Given the description of an element on the screen output the (x, y) to click on. 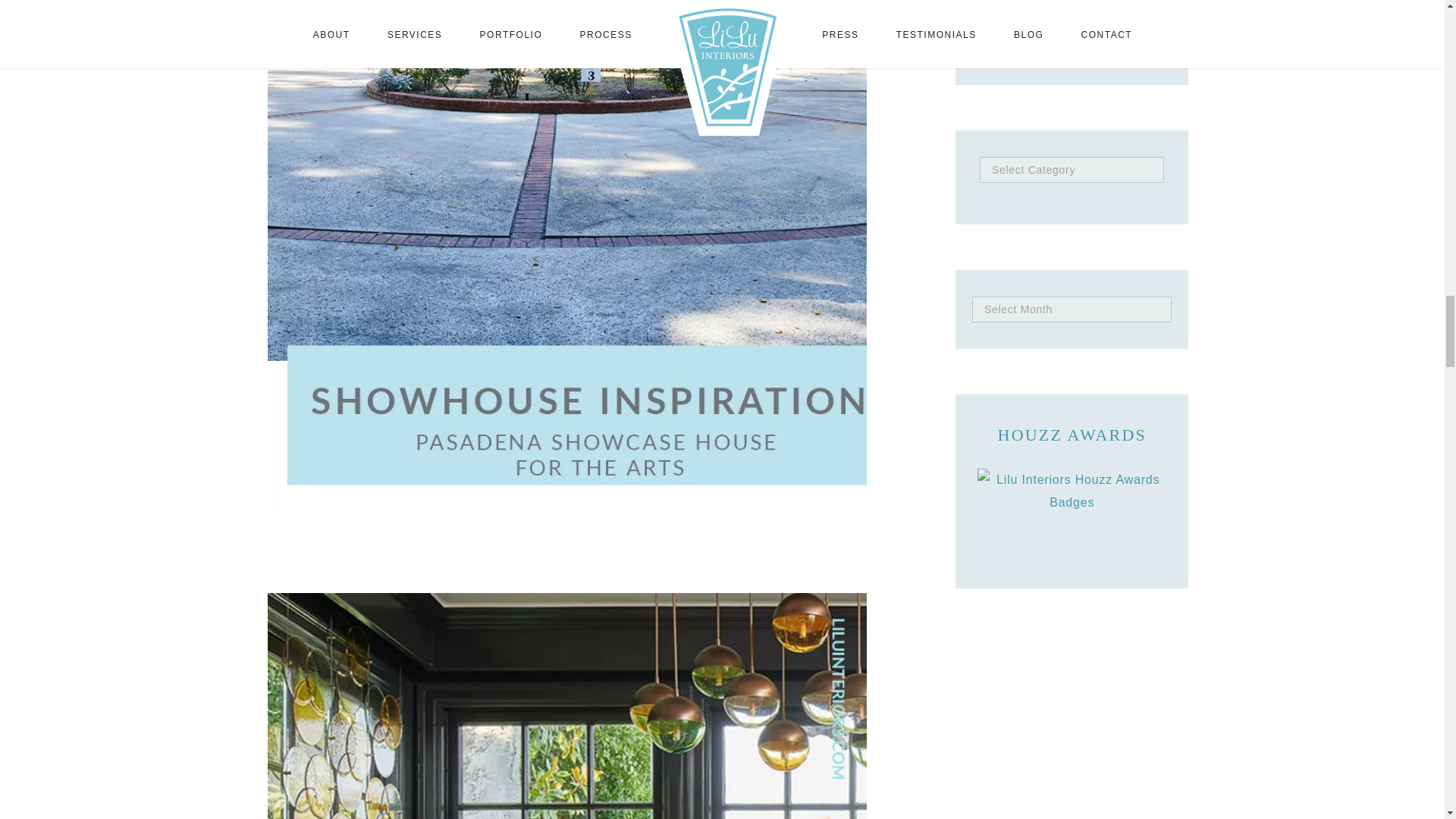
Go (1150, 30)
